Given the description of an element on the screen output the (x, y) to click on. 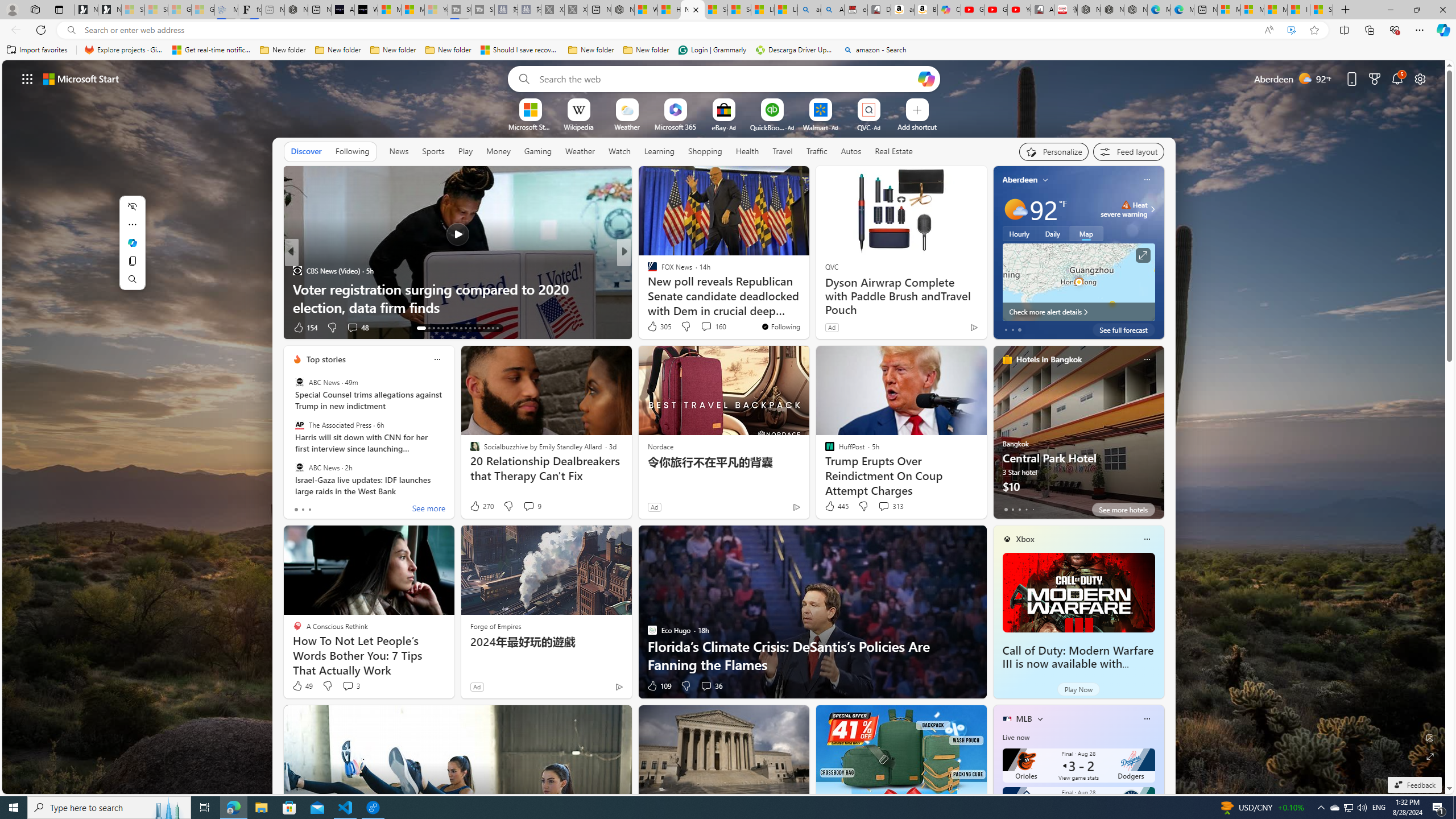
Play (465, 151)
Workspaces (34, 9)
View comments 1k Comment (698, 327)
Shopping (705, 151)
63 Like (652, 327)
Play (465, 151)
Liron Segev (647, 288)
AutomationID: waffle (27, 78)
View comments 9 Comment (528, 505)
Login | Grammarly (712, 49)
amazon - Search (875, 49)
AutomationID: tab-23 (470, 328)
Microsoft Start Sports (389, 9)
Kathy Kingsley (647, 270)
Weather (580, 151)
